Given the description of an element on the screen output the (x, y) to click on. 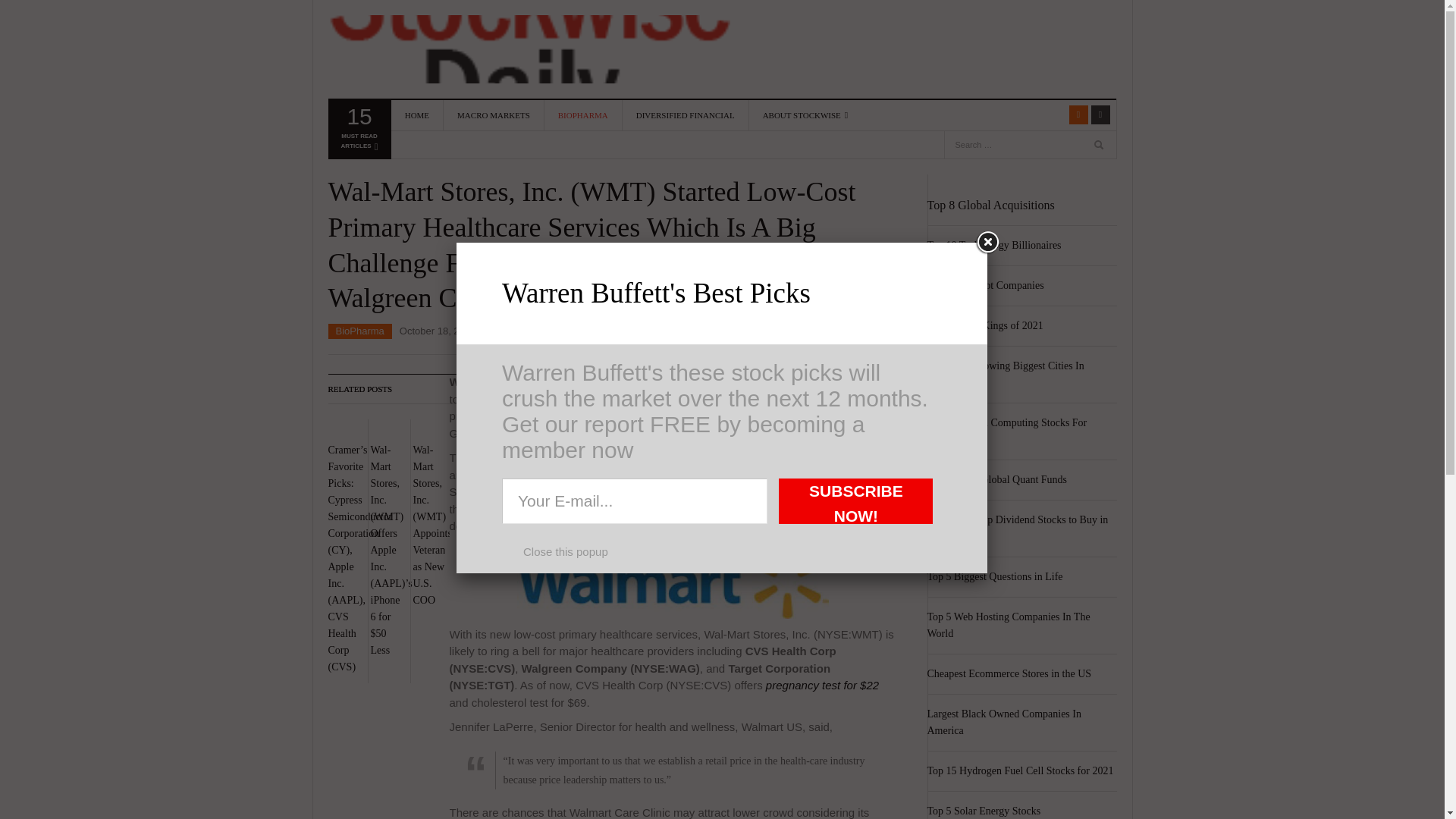
Search (1100, 146)
Stockwise Daily (528, 49)
Search (1048, 115)
Stockwise Daily (528, 49)
HOME (416, 114)
MACRO MARKETS (358, 132)
